Given the description of an element on the screen output the (x, y) to click on. 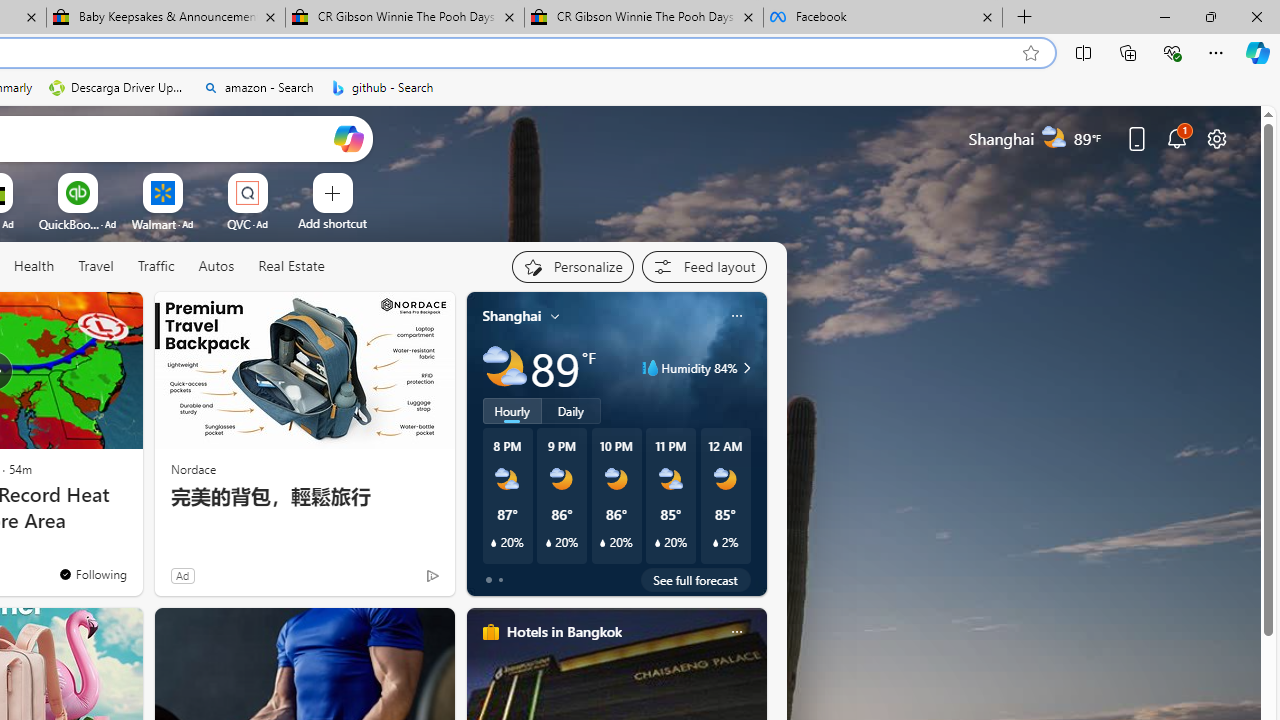
Descarga Driver Updater (118, 88)
Feed settings (703, 266)
You're following The Weather Channel (92, 573)
